Given the description of an element on the screen output the (x, y) to click on. 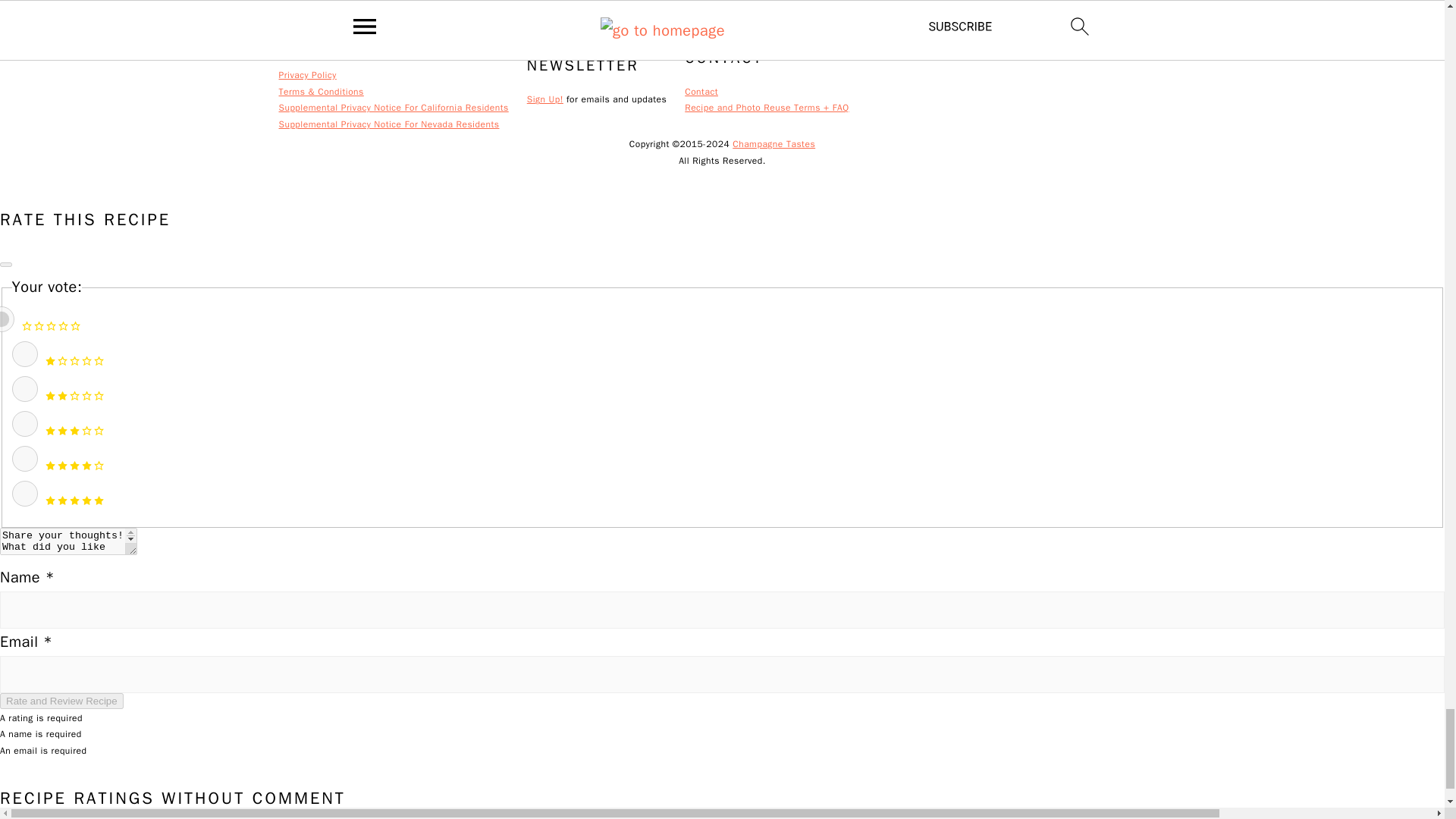
2 (24, 388)
1 (24, 353)
4 (24, 458)
3 (24, 423)
5 (24, 493)
